Given the description of an element on the screen output the (x, y) to click on. 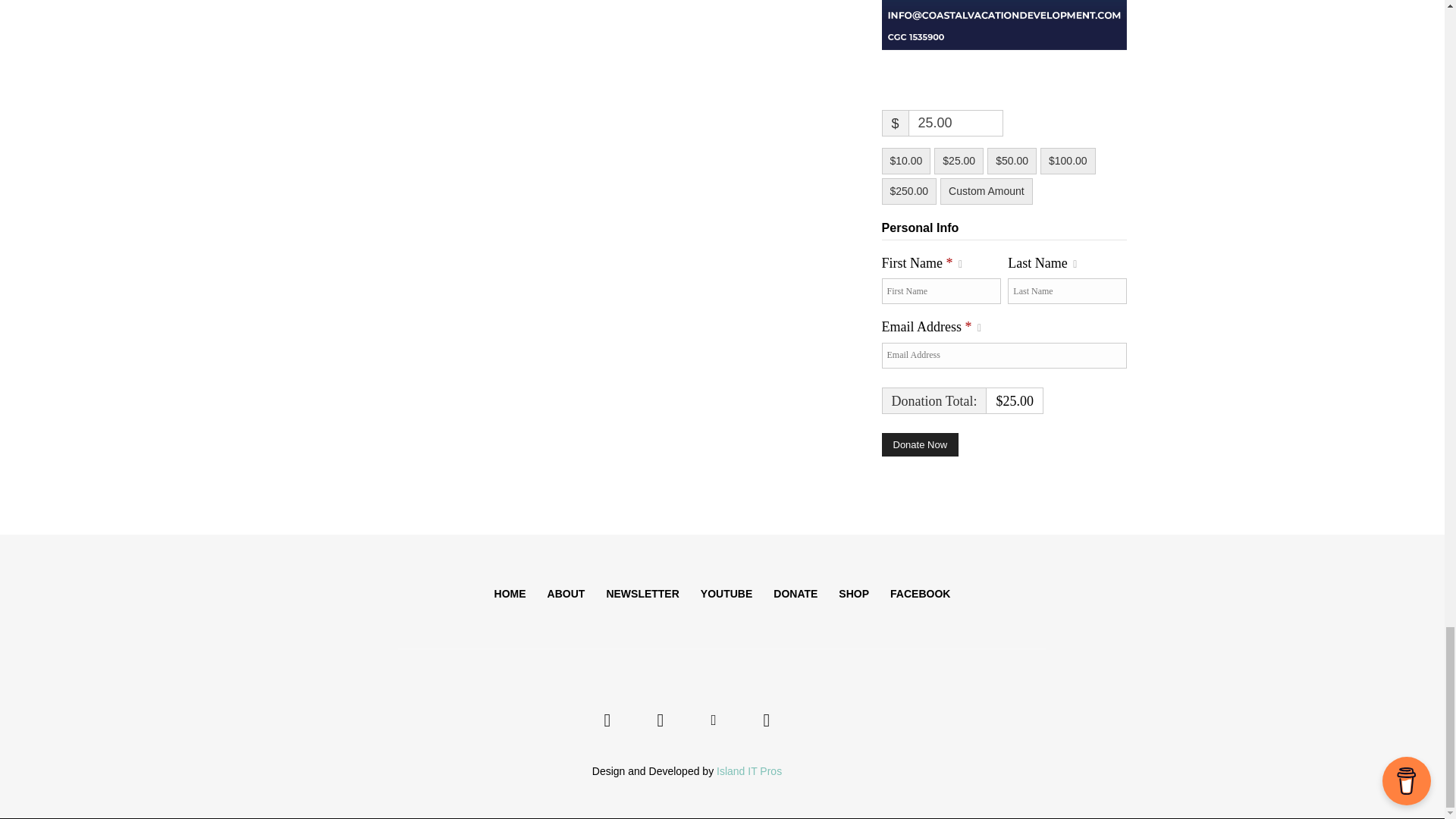
Twitter (713, 719)
Youtube (766, 719)
25.00 (955, 122)
Instagram (659, 719)
Donate Now (919, 445)
Facebook (607, 719)
